Given the description of an element on the screen output the (x, y) to click on. 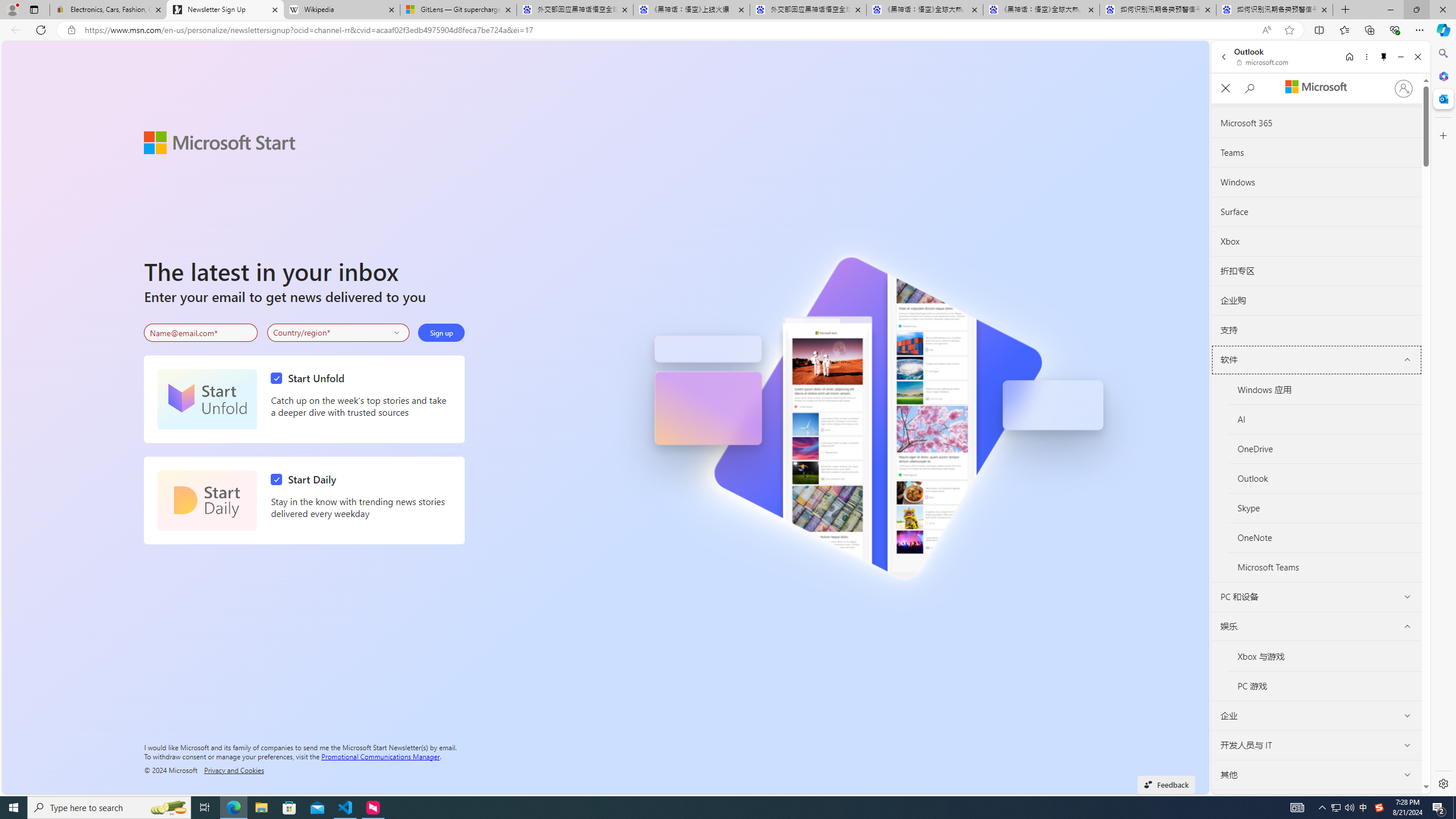
Enter your email (200, 332)
Electronics, Cars, Fashion, Collectibles & More | eBay (108, 9)
Microsoft (1315, 87)
Windows (1316, 182)
microsoft.com (1263, 61)
Xbox (1316, 241)
Start Unfold (310, 378)
AI (1324, 419)
